Given the description of an element on the screen output the (x, y) to click on. 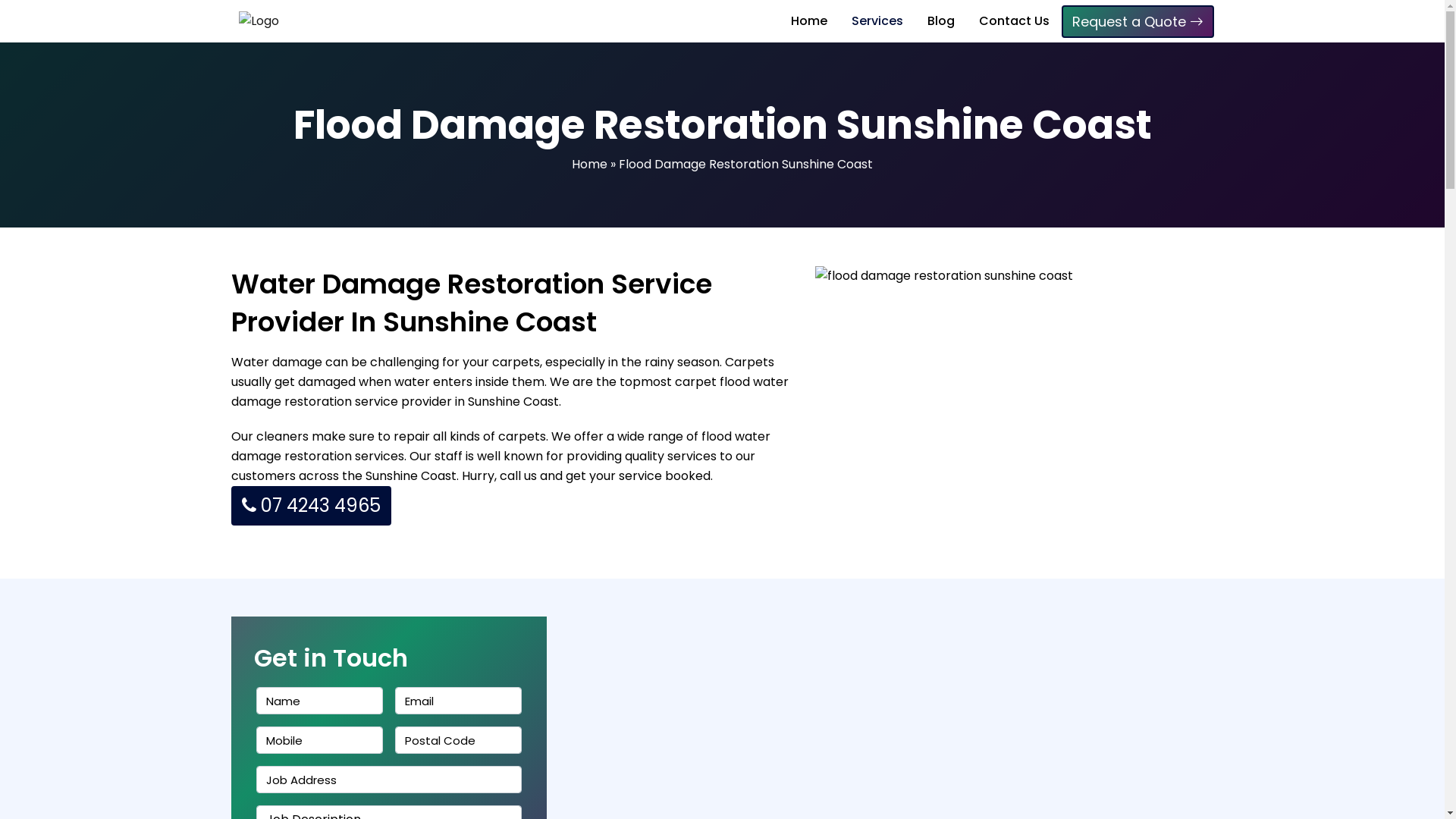
Home Element type: text (589, 163)
Blog Element type: text (941, 21)
Contact Us Element type: text (1013, 21)
07 4243 4965 Element type: text (310, 505)
Home Element type: text (808, 21)
Request a Quote Element type: text (1137, 20)
Services Element type: text (877, 21)
